Given the description of an element on the screen output the (x, y) to click on. 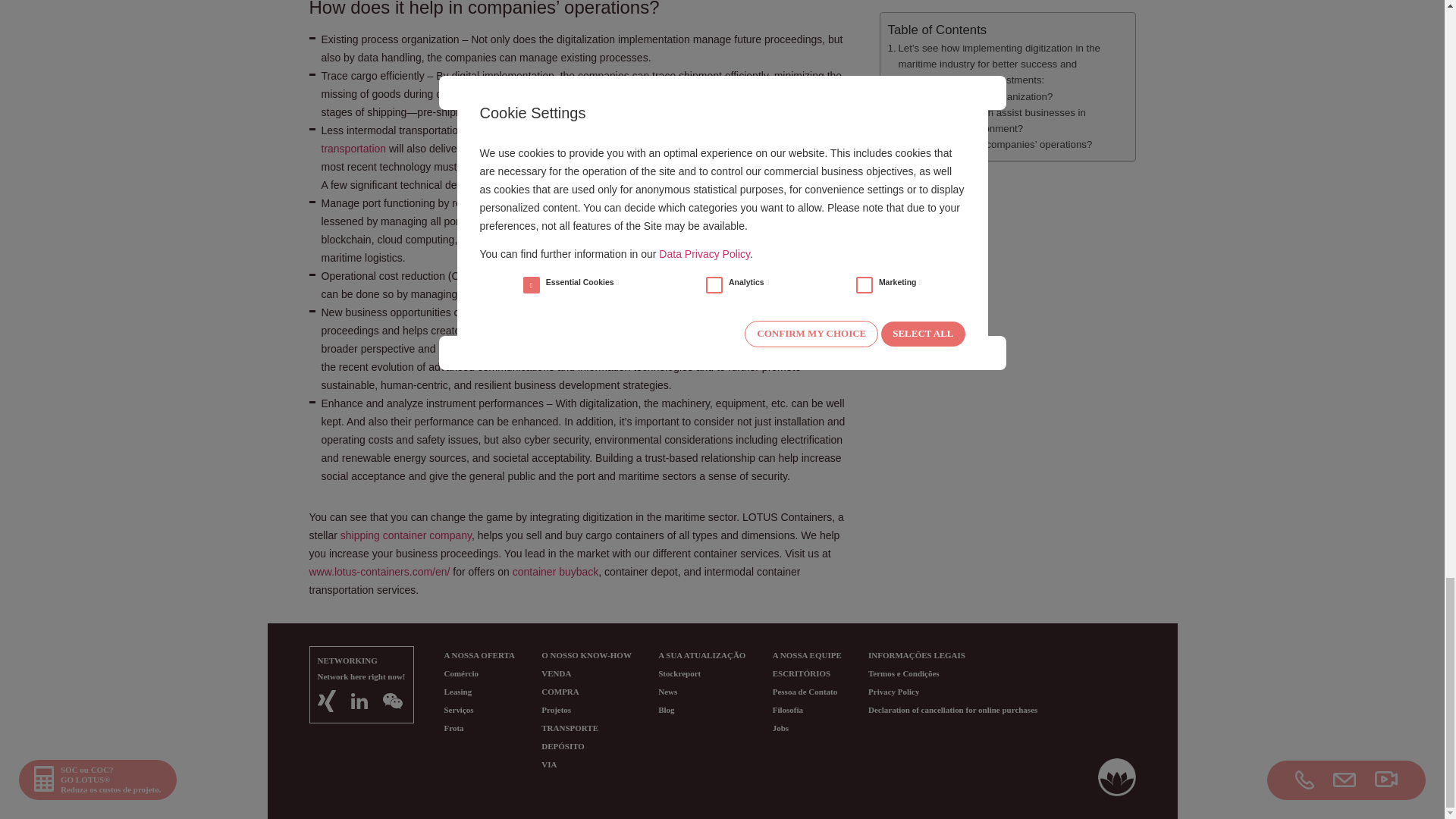
Shipping container suppliers (405, 535)
Shipping containers buyback (555, 571)
Intermodal freight transport (573, 139)
